Given the description of an element on the screen output the (x, y) to click on. 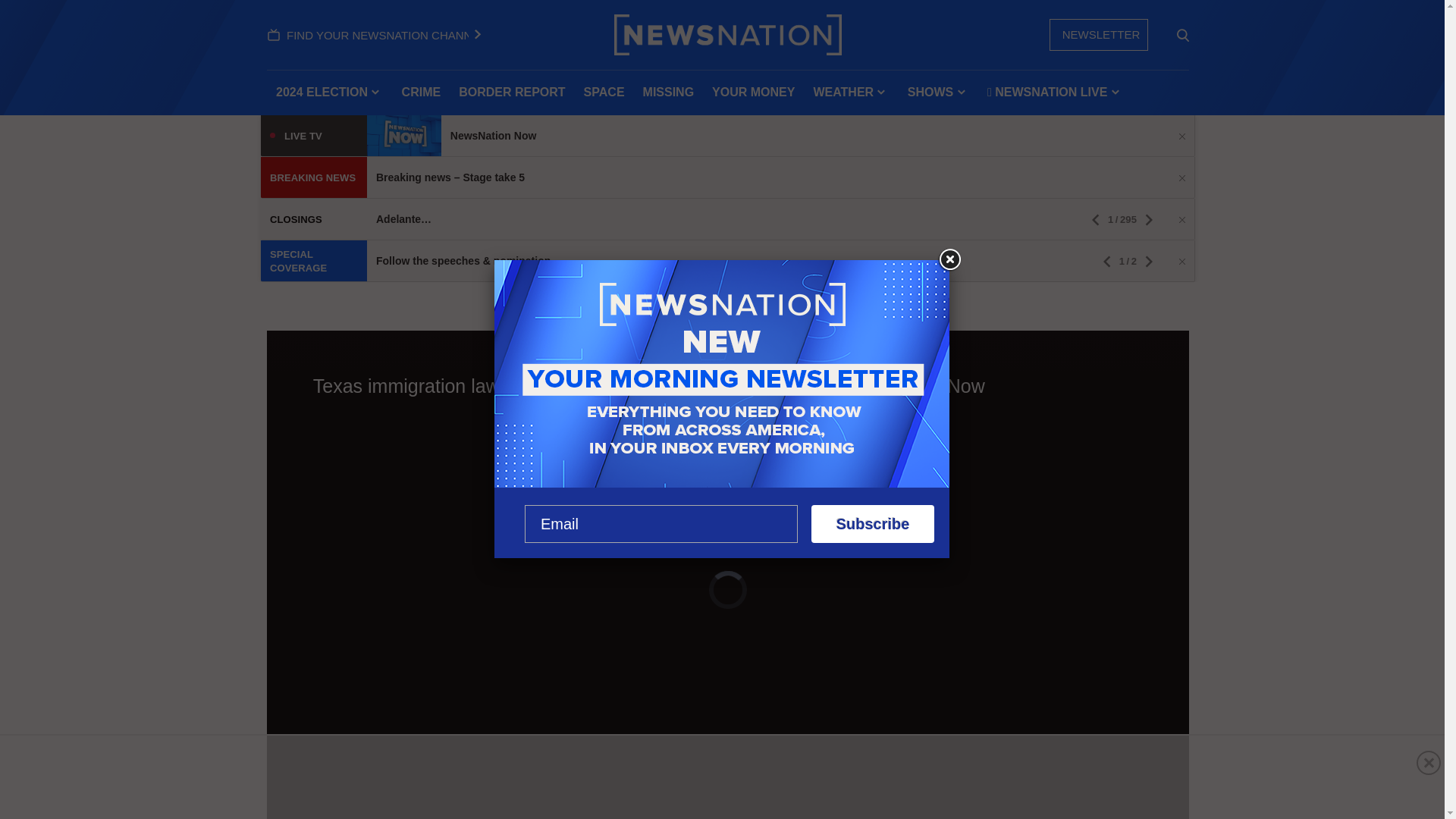
YOUR MONEY (753, 92)
WEATHER (850, 92)
NEWSLETTER (1098, 34)
MISSING (668, 92)
SPACE (604, 92)
CRIME (421, 92)
2024 ELECTION (329, 92)
BORDER REPORT (511, 92)
Subscribe (872, 523)
SHOWS (938, 92)
Go (1182, 34)
